Given the description of an element on the screen output the (x, y) to click on. 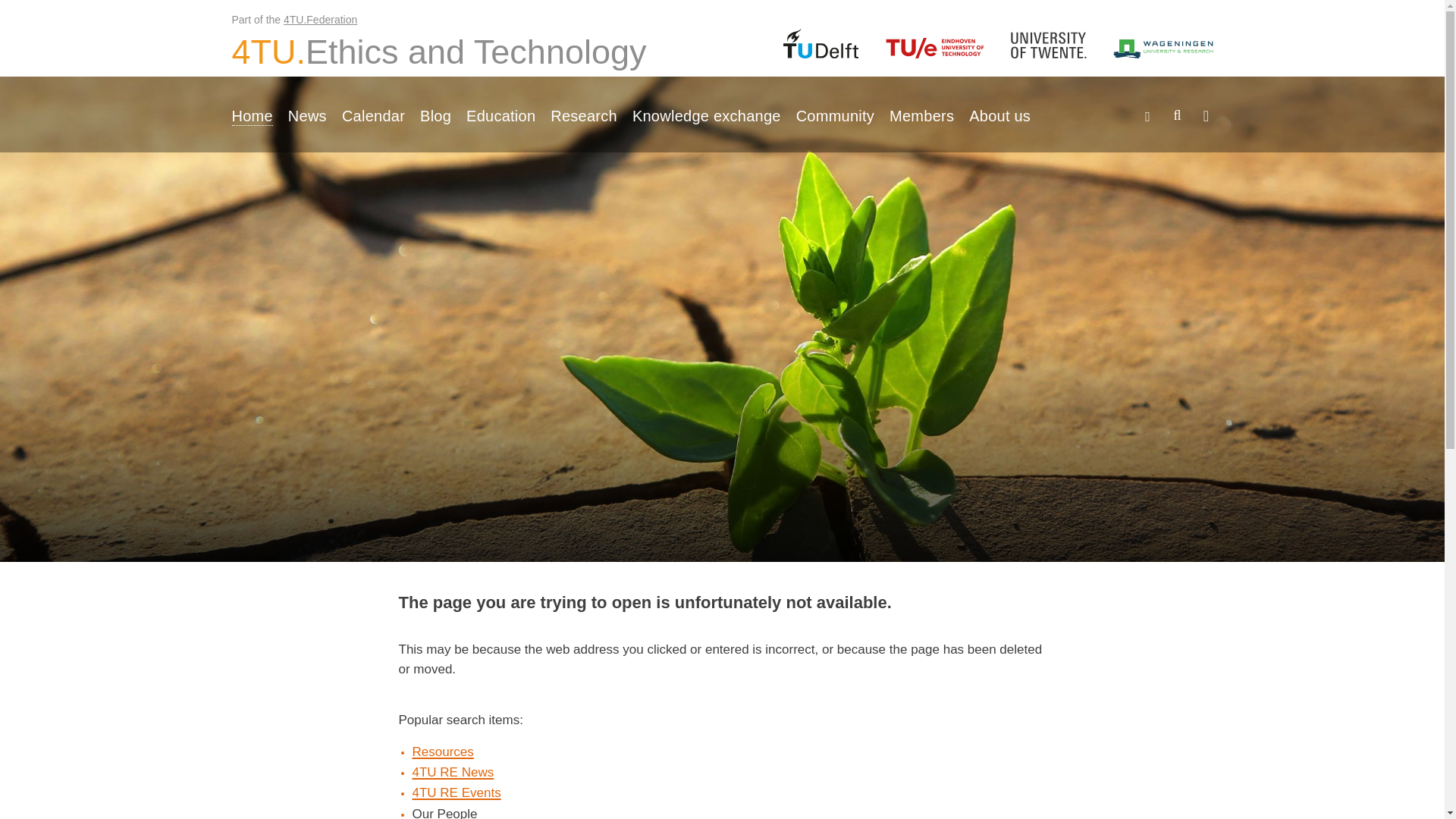
University of Twente (1048, 44)
Wageningen University (1162, 48)
TU Delft (821, 43)
4TU.Federation (319, 19)
TU Eindhoven (438, 51)
